Given the description of an element on the screen output the (x, y) to click on. 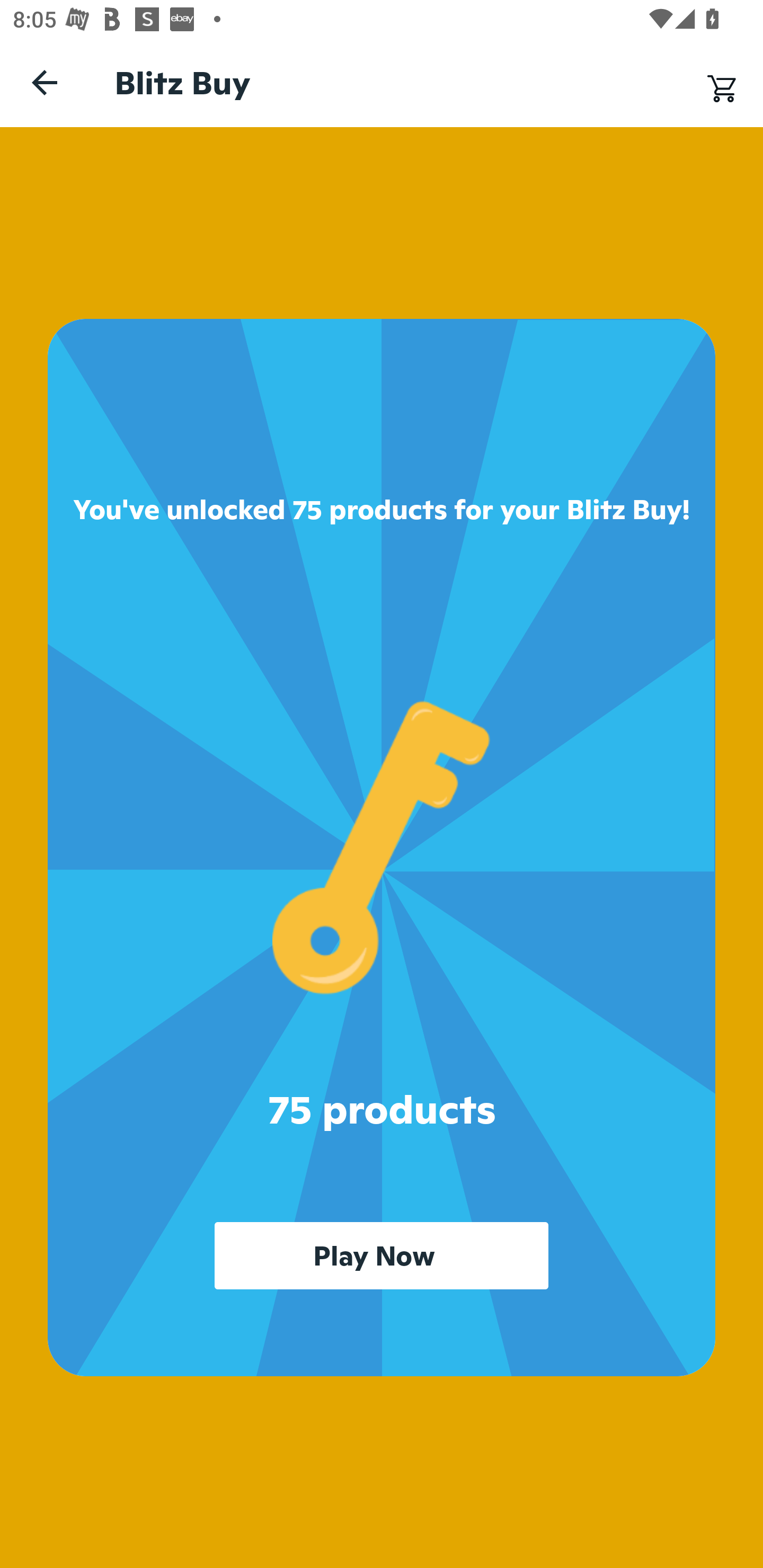
Navigate up (44, 82)
Play Now (381, 1254)
